Given the description of an element on the screen output the (x, y) to click on. 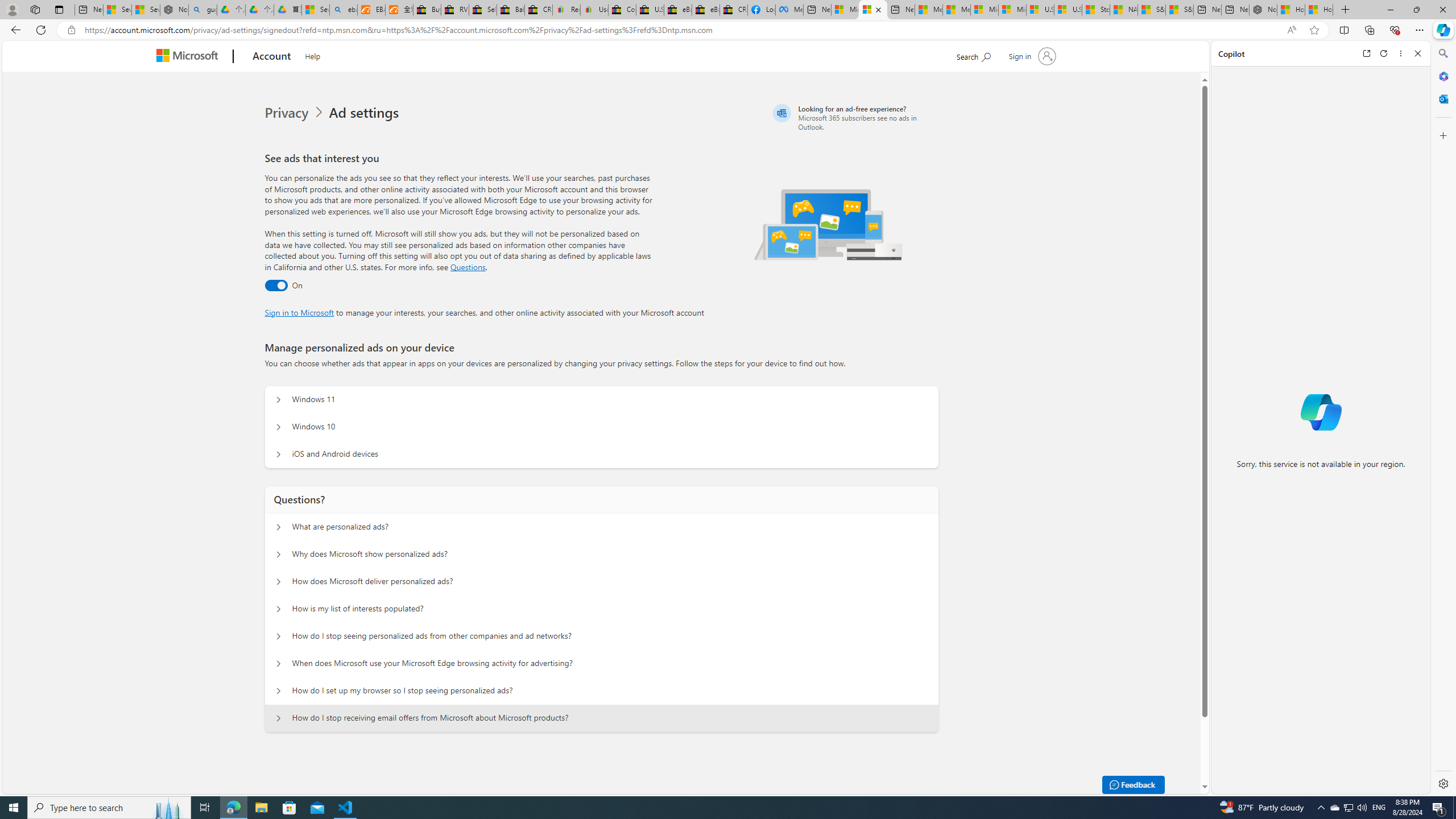
Personal Profile (12, 9)
Sign in to your account (1031, 55)
Log into Facebook (761, 9)
New tab (1235, 9)
Microsoft account | Privacy (872, 9)
Questions? Why does Microsoft show personalized ads? (278, 554)
Search (1442, 53)
Workspaces (34, 9)
RV, Trailer & Camper Steps & Ladders for sale | eBay (454, 9)
guge yunpan - Search (202, 9)
Baby Keepsakes & Announcements for sale | eBay (510, 9)
Sign in to Microsoft (299, 311)
